Given the description of an element on the screen output the (x, y) to click on. 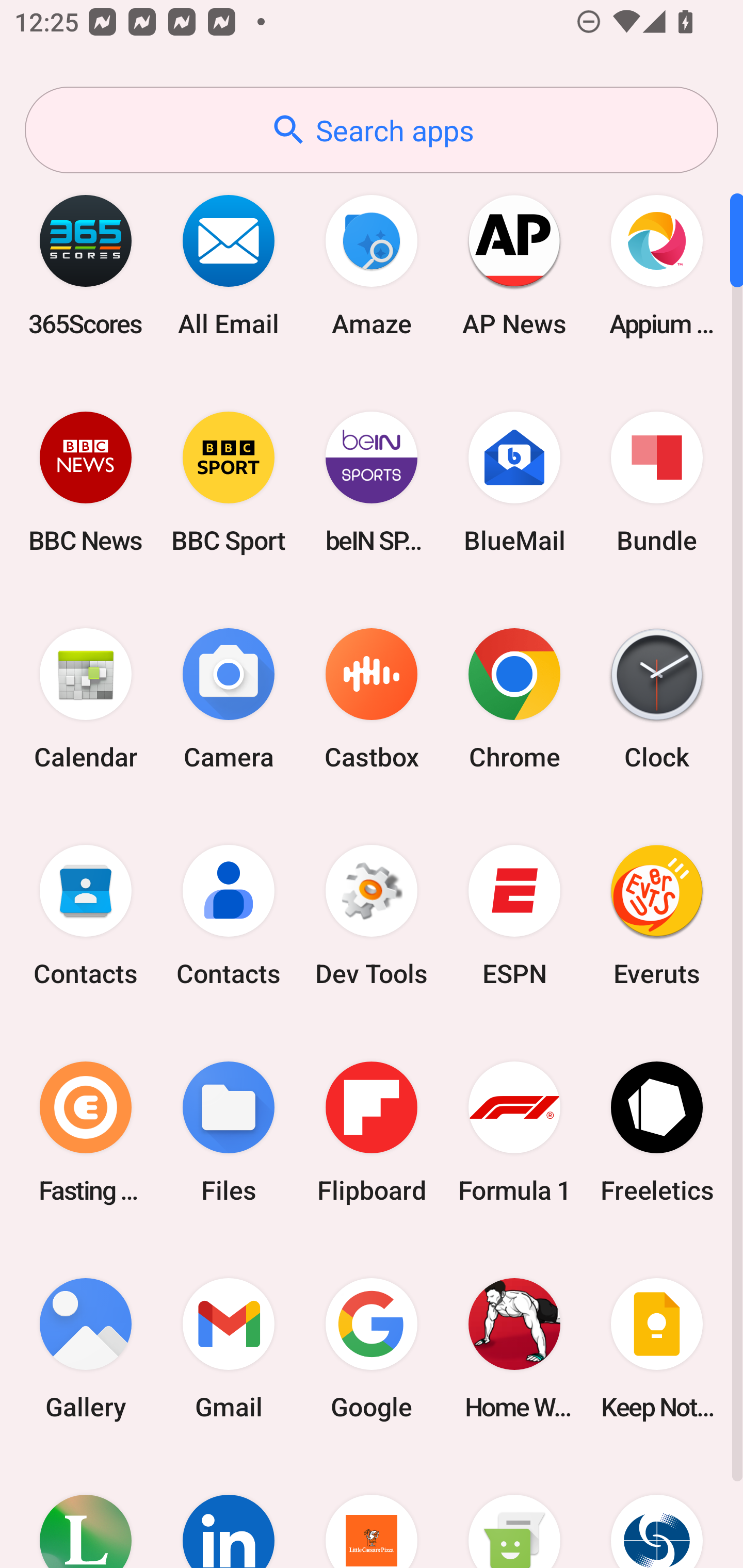
  Search apps (371, 130)
365Scores (85, 264)
All Email (228, 264)
Amaze (371, 264)
AP News (514, 264)
Appium Settings (656, 264)
BBC News (85, 482)
BBC Sport (228, 482)
beIN SPORTS (371, 482)
BlueMail (514, 482)
Bundle (656, 482)
Calendar (85, 699)
Camera (228, 699)
Castbox (371, 699)
Chrome (514, 699)
Clock (656, 699)
Contacts (85, 915)
Contacts (228, 915)
Dev Tools (371, 915)
ESPN (514, 915)
Everuts (656, 915)
Fasting Coach (85, 1131)
Files (228, 1131)
Flipboard (371, 1131)
Formula 1 (514, 1131)
Freeletics (656, 1131)
Gallery (85, 1348)
Gmail (228, 1348)
Google (371, 1348)
Home Workout (514, 1348)
Keep Notes (656, 1348)
